Given the description of an element on the screen output the (x, y) to click on. 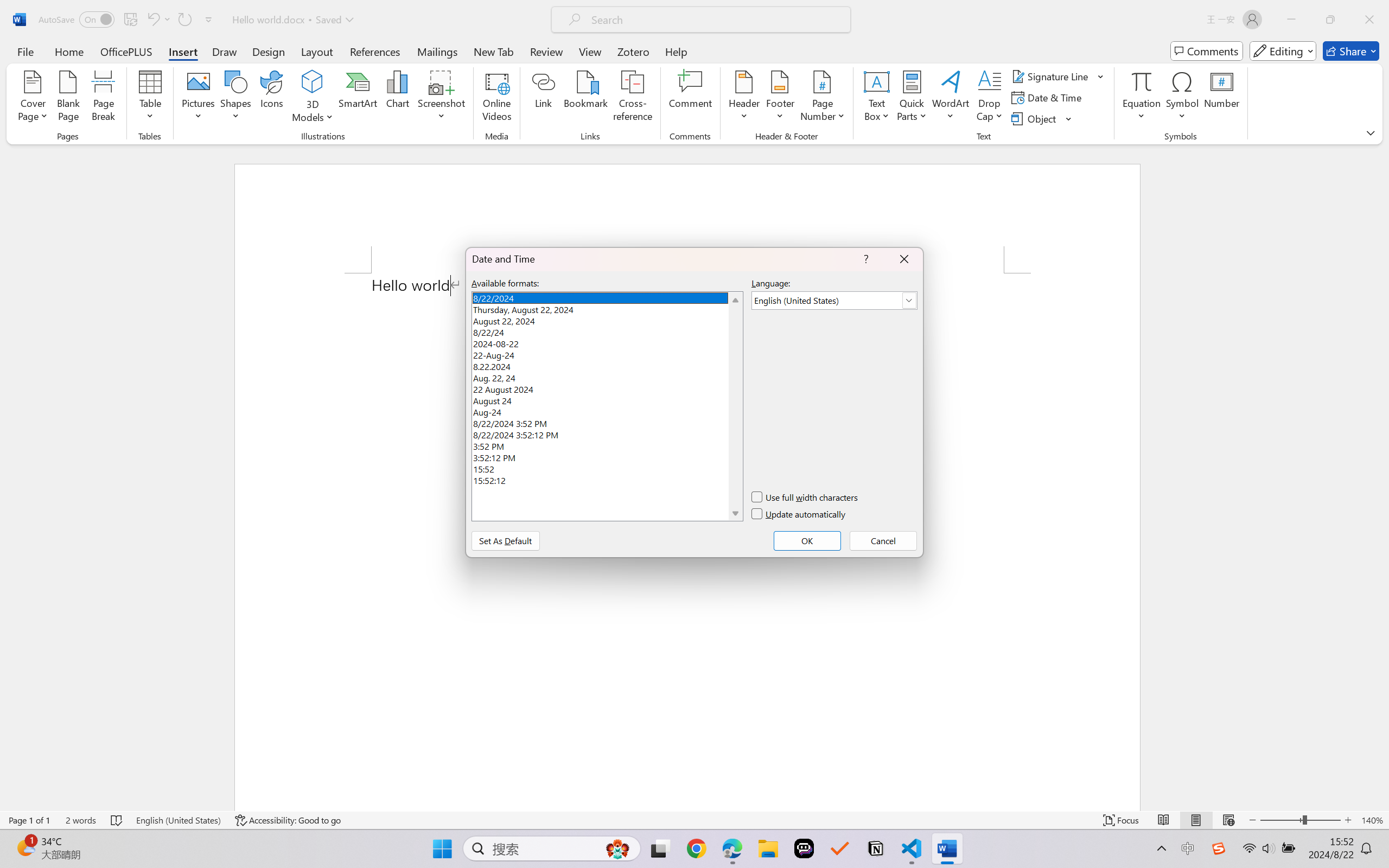
Class: Static (655, 439)
Czech (1253, 246)
